Given the description of an element on the screen output the (x, y) to click on. 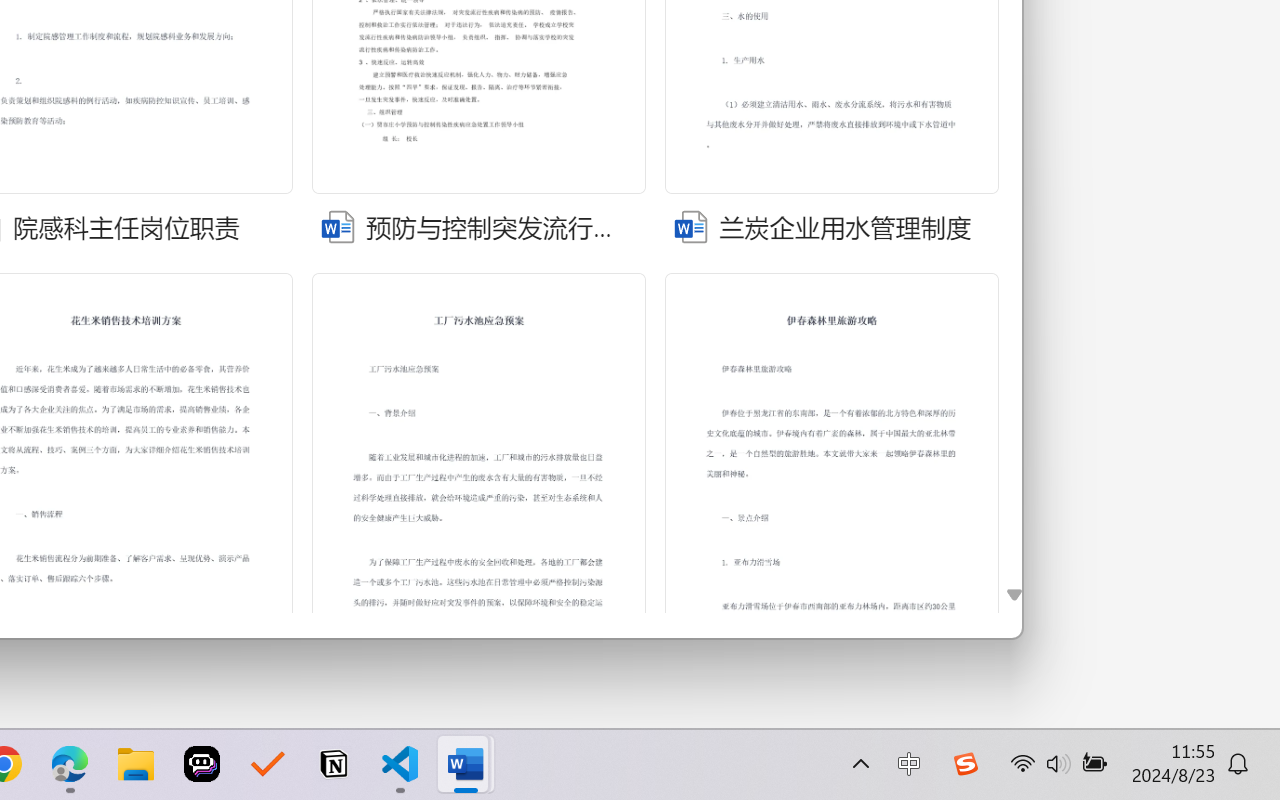
Class: ___510cvc0 f64fuq3 fjamq6b f11u7vat (688, 224)
